Given the description of an element on the screen output the (x, y) to click on. 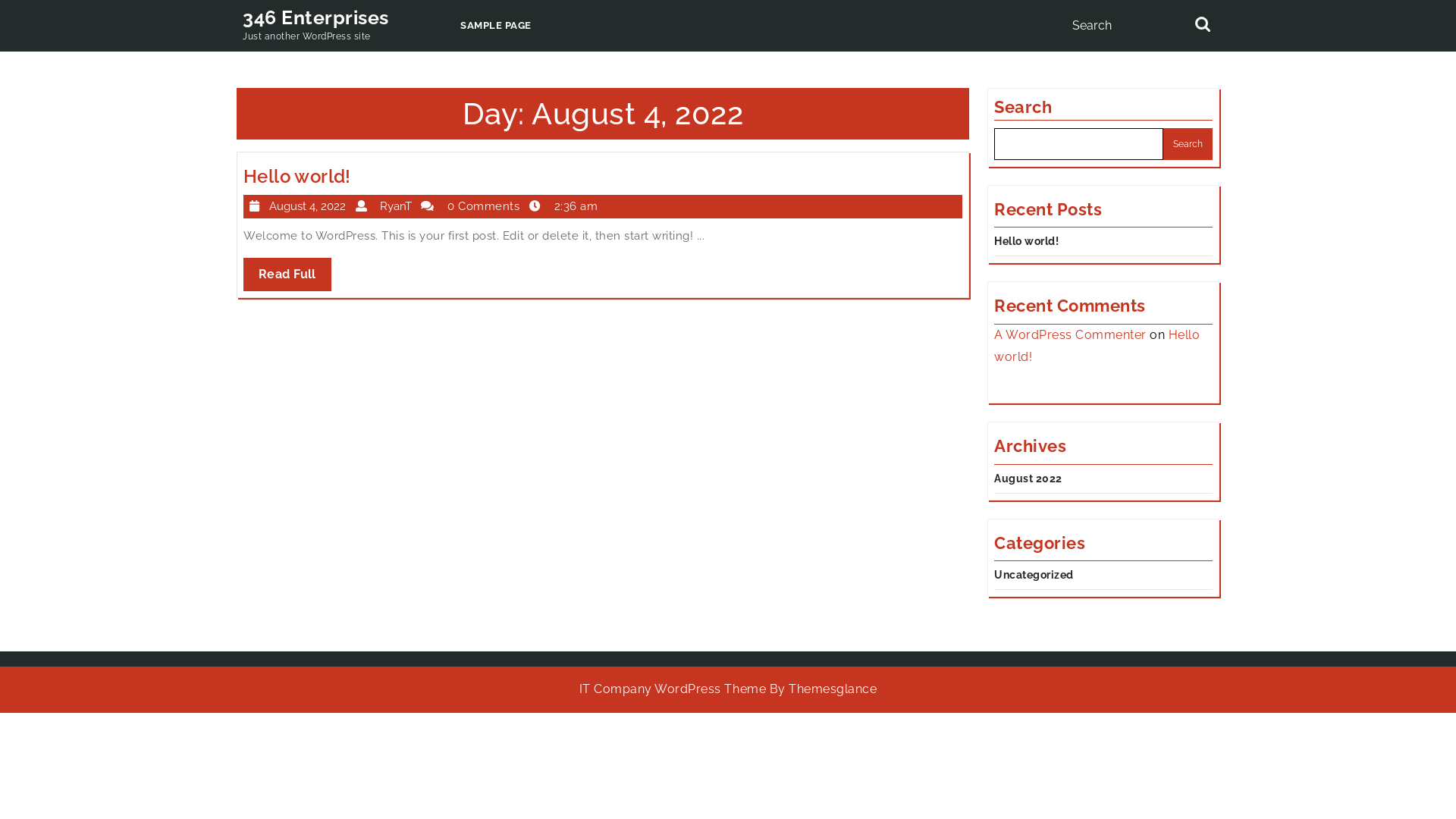
Hello world! Element type: text (1096, 345)
Hello world! Element type: text (1026, 241)
August 4, 2022
August 4, 2022 Element type: text (300, 206)
RyanT
RyanT Element type: text (386, 206)
SAMPLE PAGE Element type: text (495, 25)
A WordPress Commenter Element type: text (1070, 334)
Search Element type: text (1204, 26)
Search Element type: text (1187, 144)
346 Enterprises Element type: text (315, 17)
IT Company WordPress Theme Element type: text (672, 688)
Read Full
Read Full Element type: text (287, 274)
August 2022 Element type: text (1028, 478)
Hello world!
Hello world! Element type: text (297, 176)
Uncategorized Element type: text (1033, 574)
